Given the description of an element on the screen output the (x, y) to click on. 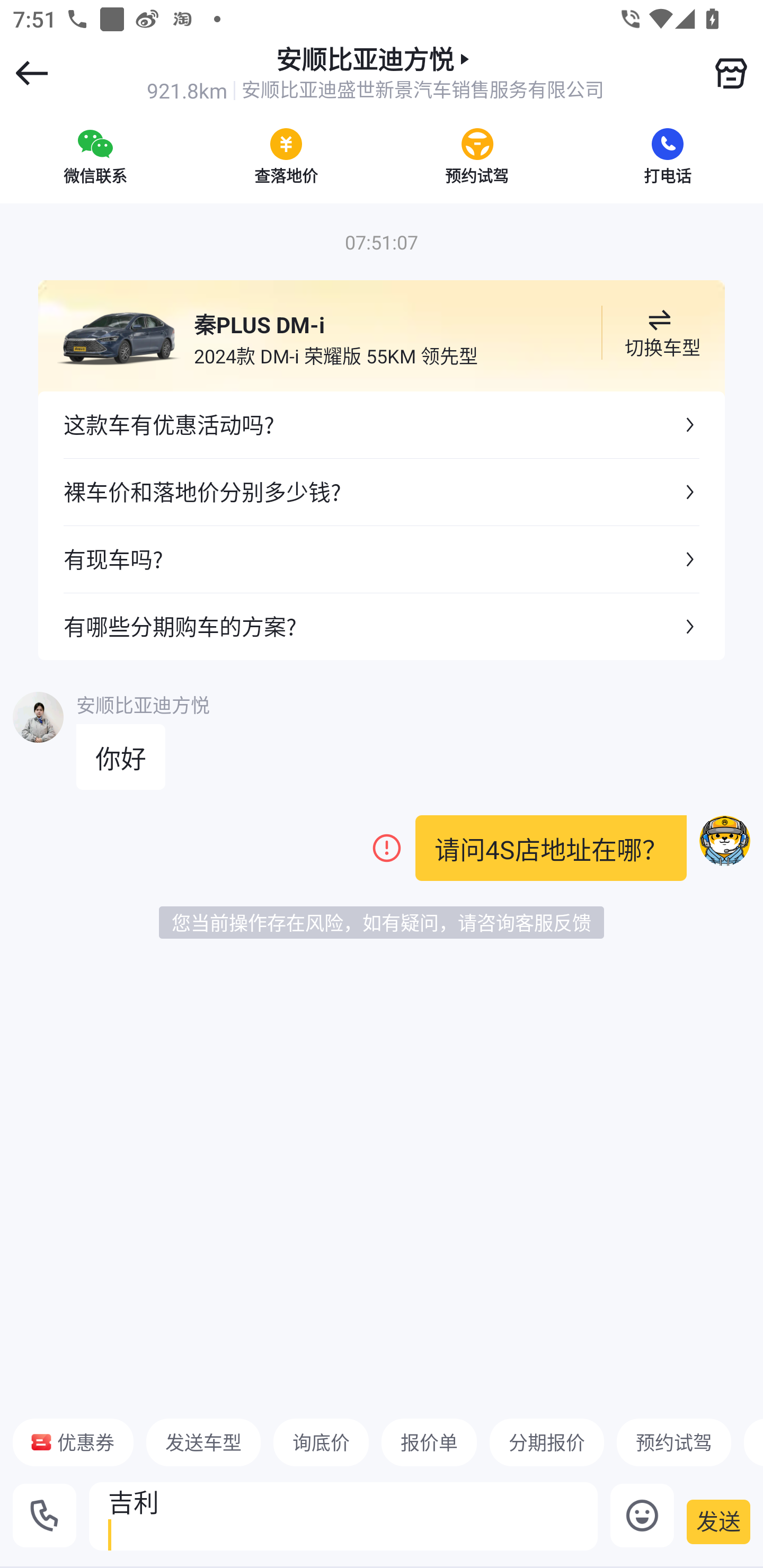
安顺比亚迪方悦 921.8km 安顺比亚迪盛世新景汽车销售服务有限公司 (374, 73)
 (730, 73)
微信联系 (95, 155)
查落地价 (285, 155)
预约试驾 (476, 155)
打电话 (667, 155)
切换车型 (659, 332)
这款车有优惠活动吗? (381, 424)
裸车价和落地价分别多少钱? (381, 492)
有现车吗? (381, 558)
有哪些分期购车的方案? (381, 626)
你好 (120, 757)
请问4S店地址在哪？ (550, 848)
优惠券 (72, 1442)
发送车型 (203, 1442)
询底价 (320, 1442)
报价单 (428, 1442)
分期报价 (546, 1442)
预约试驾 (673, 1442)
吉利
 (343, 1515)
发送 (718, 1521)
